Given the description of an element on the screen output the (x, y) to click on. 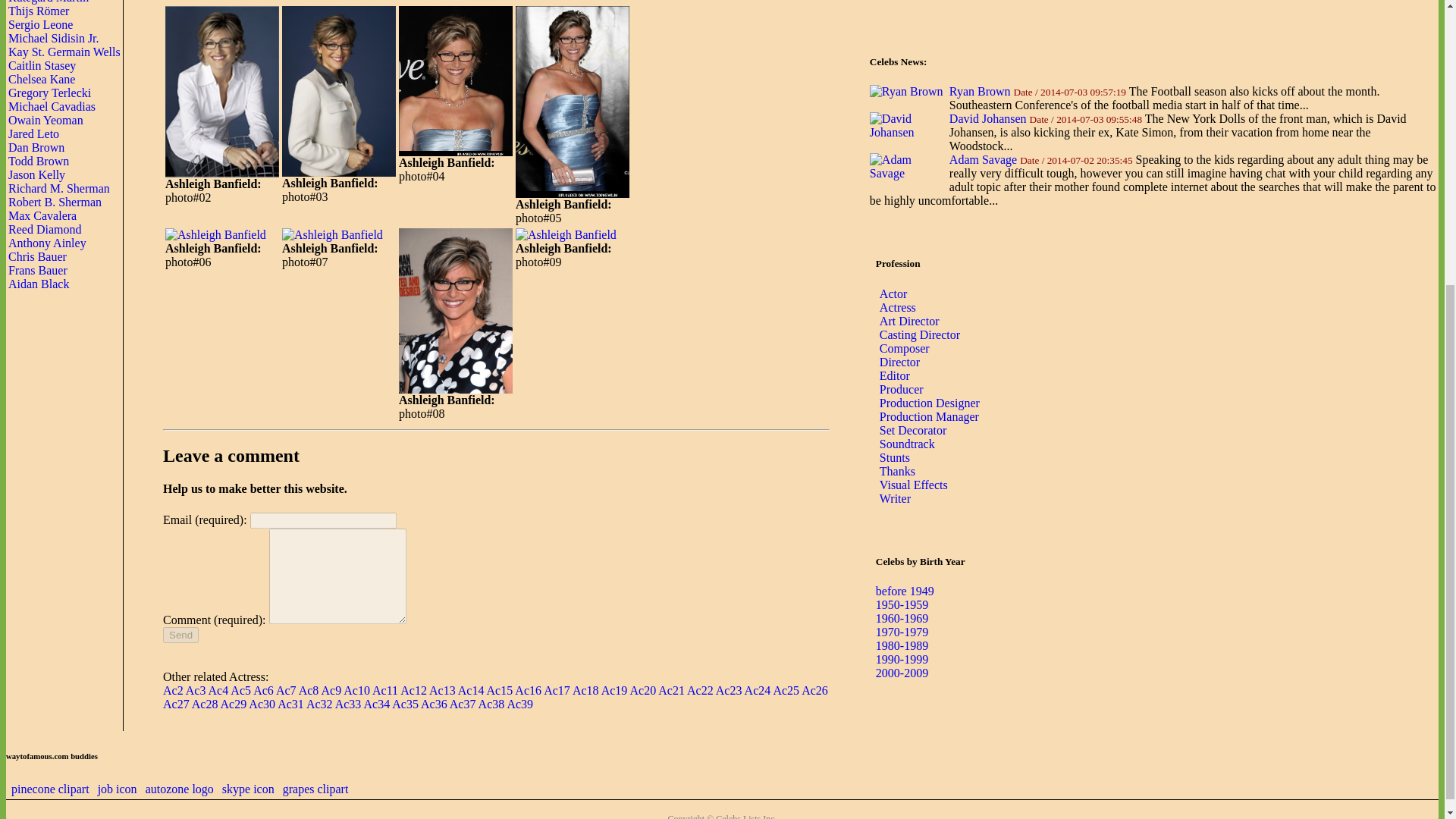
Rutegard Martin (48, 2)
Caitlin Stasey (41, 65)
Chelsea Kane (41, 78)
Michael Sidisin Jr. (53, 38)
Todd Brown (38, 160)
Kay St. Germain Wells (64, 51)
Jared Leto (33, 133)
Owain Yeoman (45, 119)
Sergio Leone (40, 24)
Dan Brown (36, 146)
Jason Kelly (36, 174)
Send (180, 634)
Michael Cavadias (52, 106)
Gregory Terlecki (49, 92)
